Given the description of an element on the screen output the (x, y) to click on. 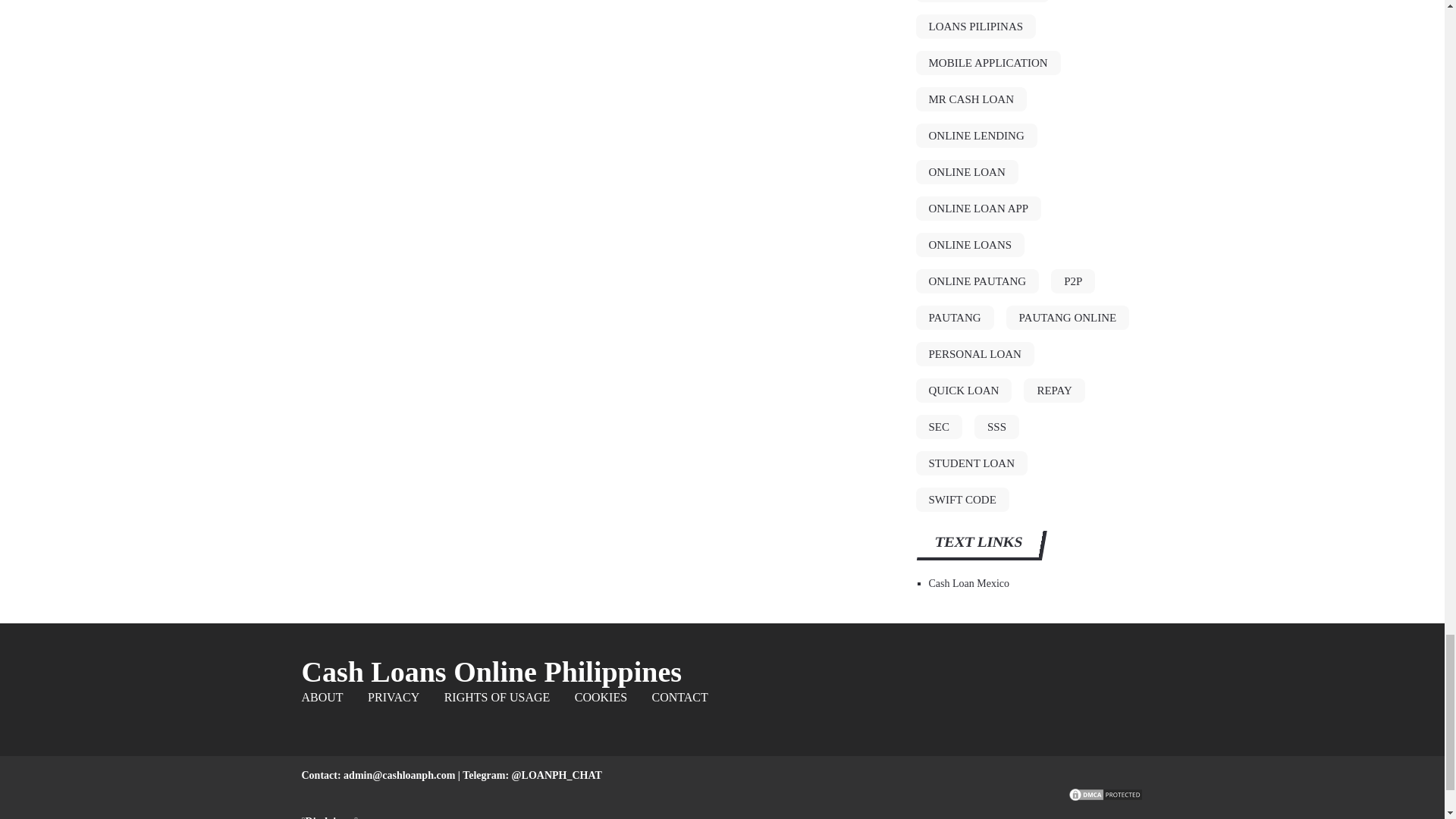
DMCA.com Protection Status (1104, 798)
